Given the description of an element on the screen output the (x, y) to click on. 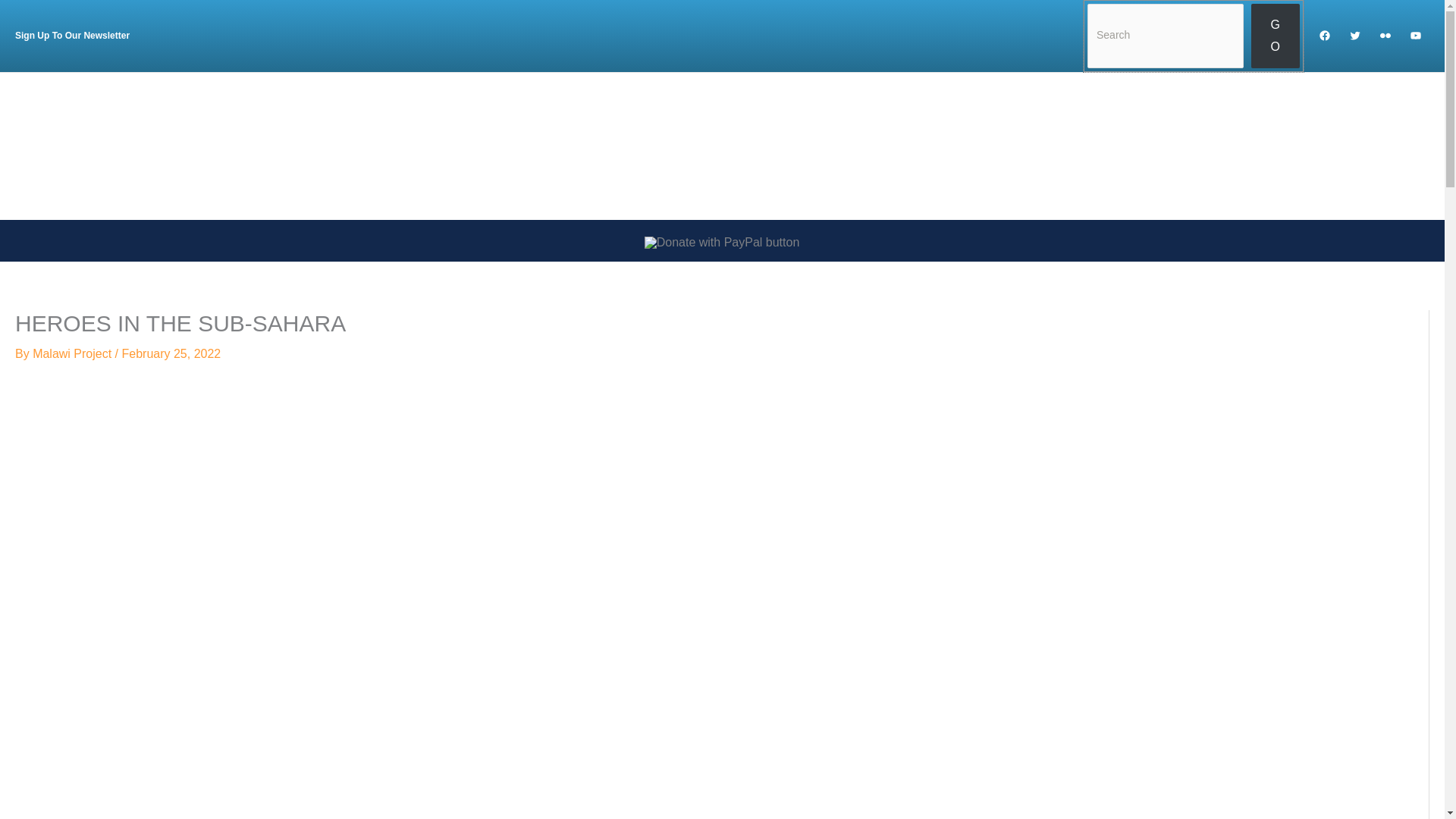
View all posts by Malawi Project (73, 353)
Malawi (950, 146)
PayPal - The safer, easier way to pay online! (722, 242)
Home (884, 146)
Programs (1299, 146)
Flickr (1384, 35)
Action For Progress (1179, 146)
Sign Up To Our Newsletter (71, 35)
Facebook (1324, 35)
Malawi Project (1047, 146)
